Given the description of an element on the screen output the (x, y) to click on. 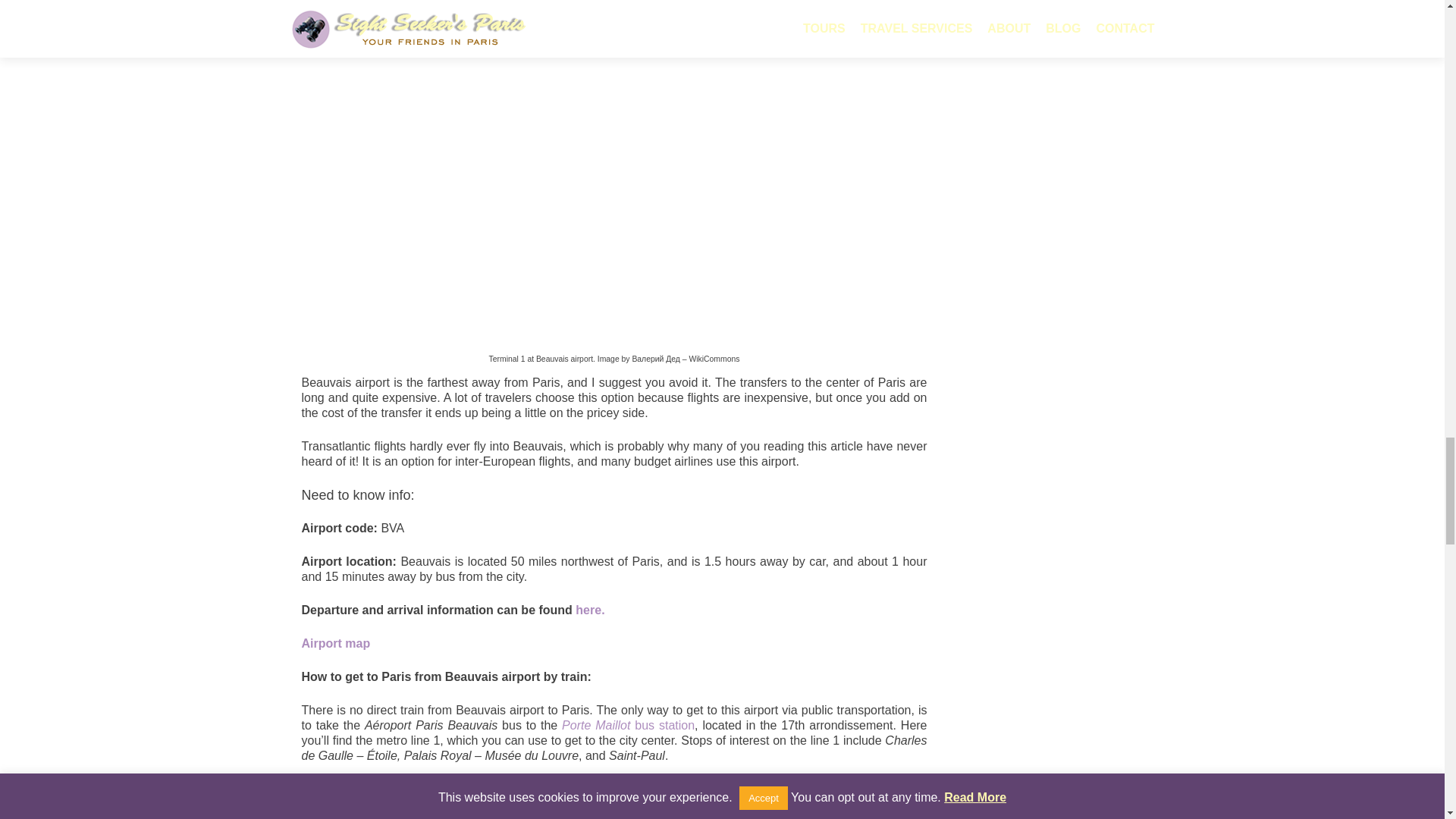
Porte Maillot bus station (628, 725)
here. (589, 609)
Airport map (336, 643)
